Given the description of an element on the screen output the (x, y) to click on. 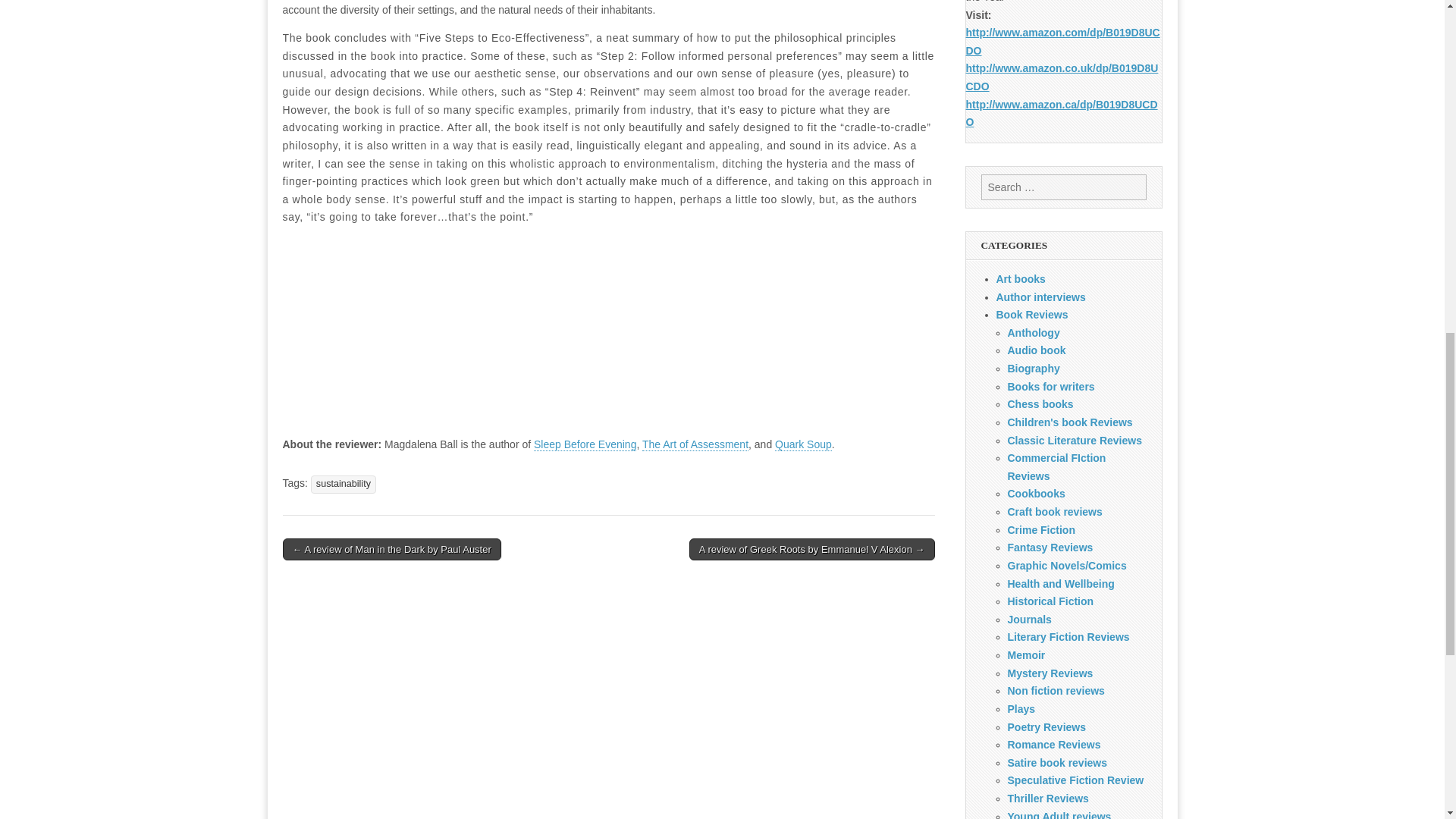
Chess books (1040, 404)
Quark Soup (802, 444)
The Art of Assessment (695, 444)
Fantasy Reviews (1050, 547)
Biography (1033, 368)
Cookbooks (1035, 493)
Books for writers (1050, 386)
Commercial FIction Reviews (1056, 467)
Classic Literature Reviews (1074, 440)
Book Reviews (1031, 314)
Craft book reviews (1054, 511)
Anthology (1033, 332)
sustainability (343, 484)
Art books (1020, 278)
Children's book Reviews (1069, 422)
